Given the description of an element on the screen output the (x, y) to click on. 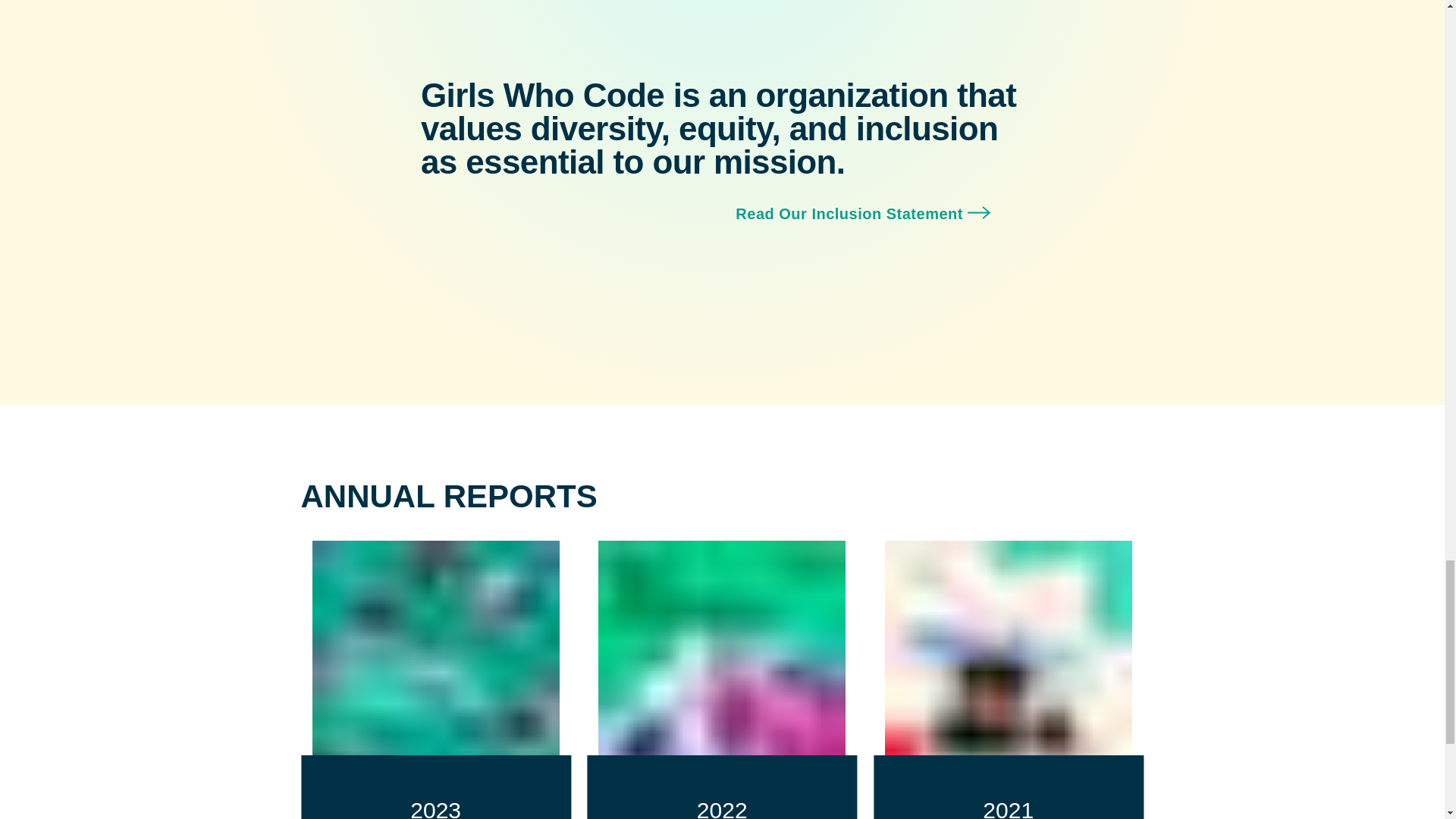
2022 (721, 679)
2023 (434, 679)
2021 (1007, 679)
Read Our Inclusion Statement (879, 213)
